Given the description of an element on the screen output the (x, y) to click on. 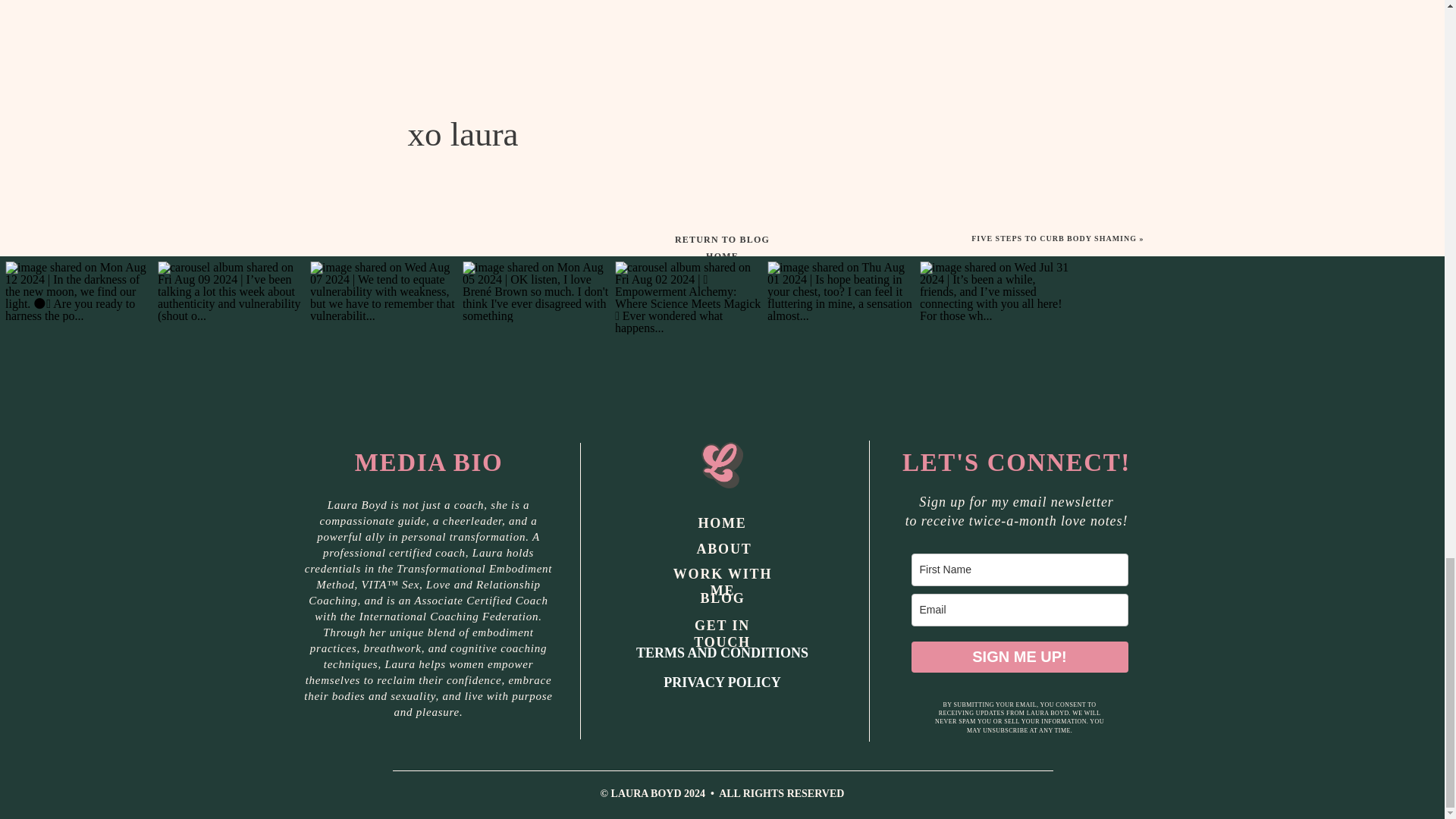
WORK WITH ME (722, 573)
TERMS AND CONDITIONS (721, 655)
HOME (721, 523)
ABOUT (721, 548)
SIGN ME UP! (1019, 656)
RETURN TO BLOG HOME (721, 238)
BLOG (721, 599)
FIVE STEPS TO CURB BODY SHAMING (1054, 238)
PRIVACY POLICY (721, 683)
GET IN TOUCH (722, 626)
